Given the description of an element on the screen output the (x, y) to click on. 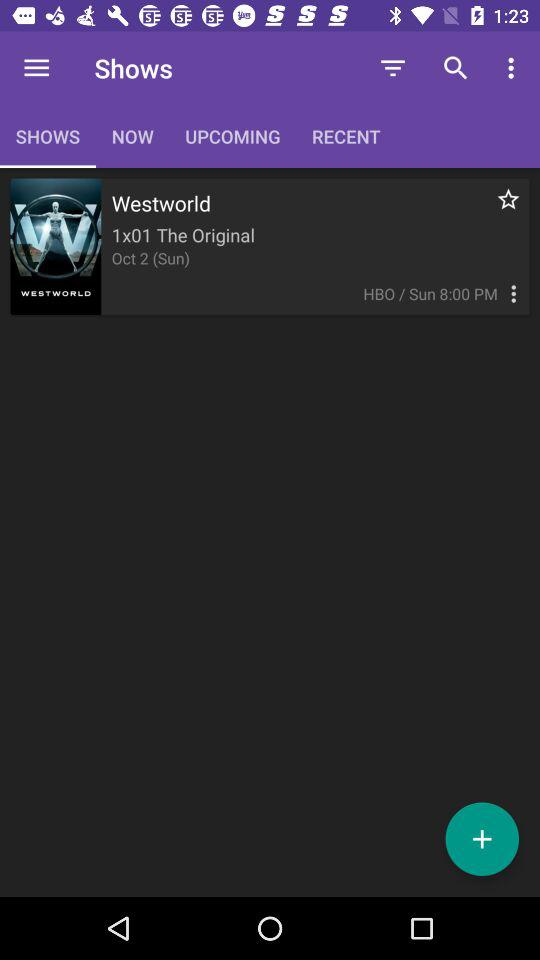
press item above shows icon (36, 68)
